Given the description of an element on the screen output the (x, y) to click on. 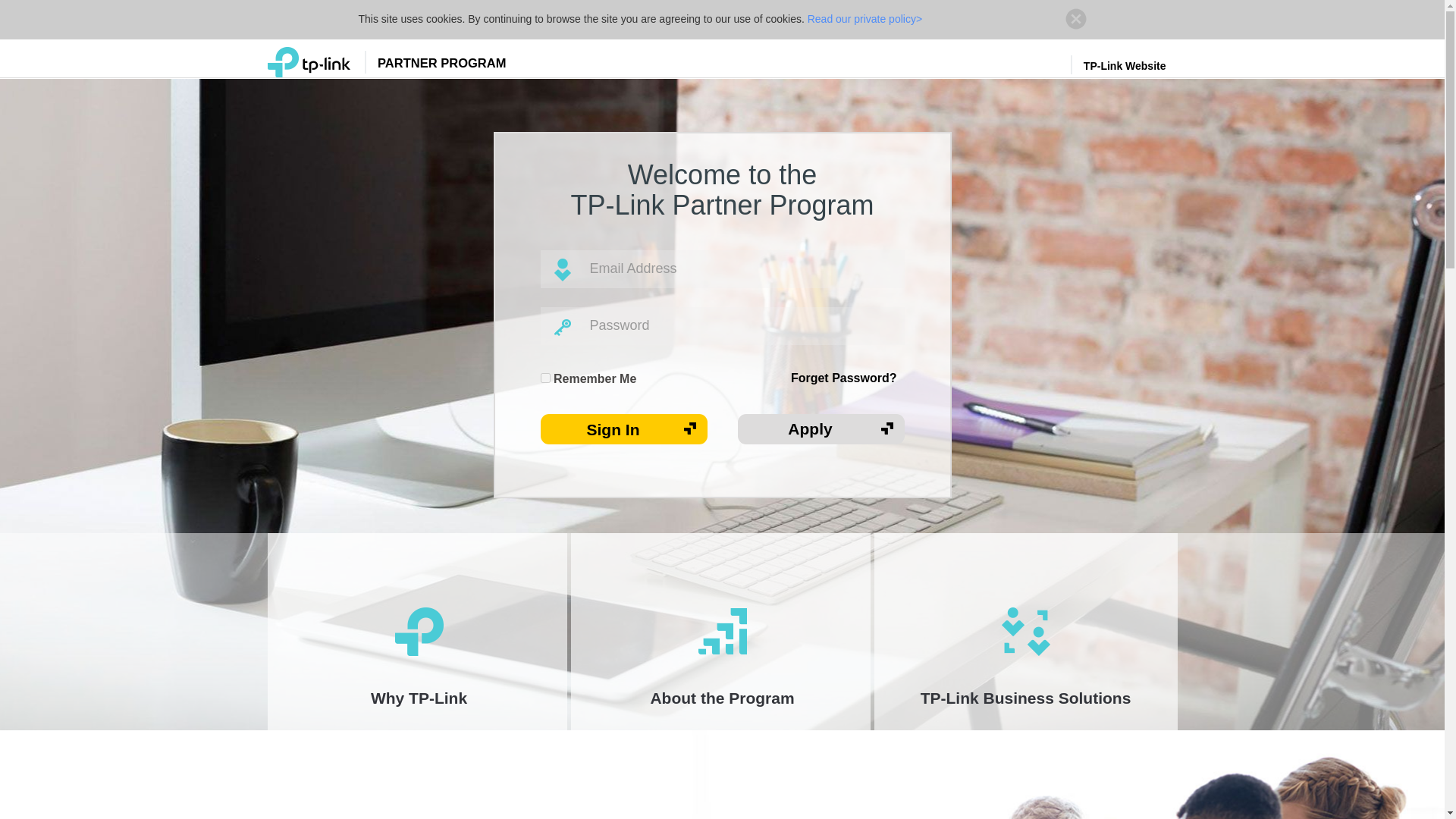
Sign In (623, 429)
PARTNER PROGRAM (385, 61)
About the Program (721, 631)
true (545, 378)
Apply (820, 429)
Why TP-Link (418, 631)
Forget Password? (843, 378)
TP-Link Business Solutions (1024, 631)
TP-Link Website (1128, 65)
